Given the description of an element on the screen output the (x, y) to click on. 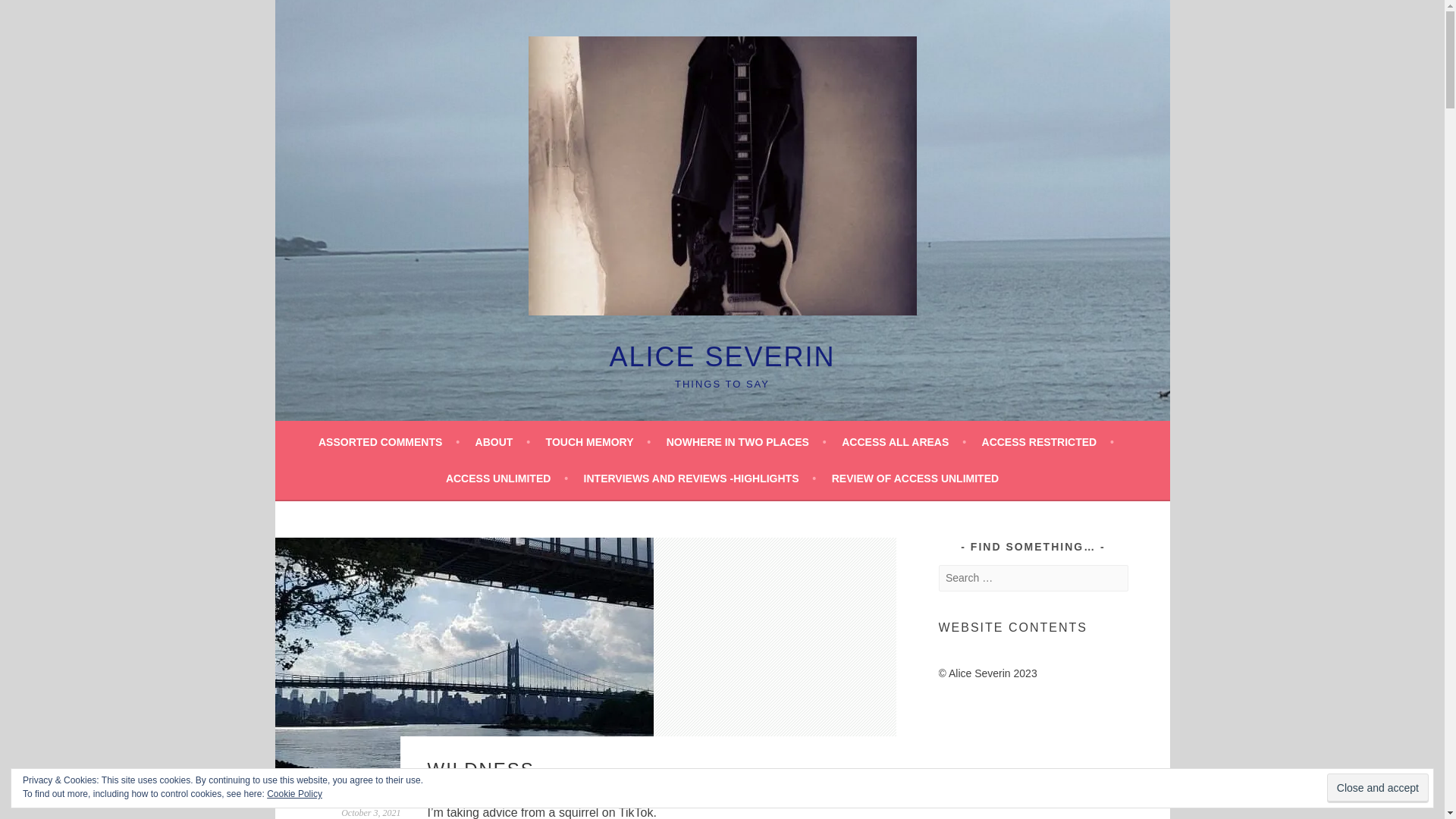
ACCESS ALL AREAS (903, 442)
ALICE SEVERIN (721, 356)
Permalink to Wildness (370, 812)
ABOUT (503, 442)
ACCESS RESTRICTED (1047, 442)
Search (30, 13)
TOUCH MEMORY (598, 442)
October 3, 2021 (370, 812)
Close and accept (1377, 788)
INTERVIEWS AND REVIEWS -HIGHLIGHTS (699, 478)
